Given the description of an element on the screen output the (x, y) to click on. 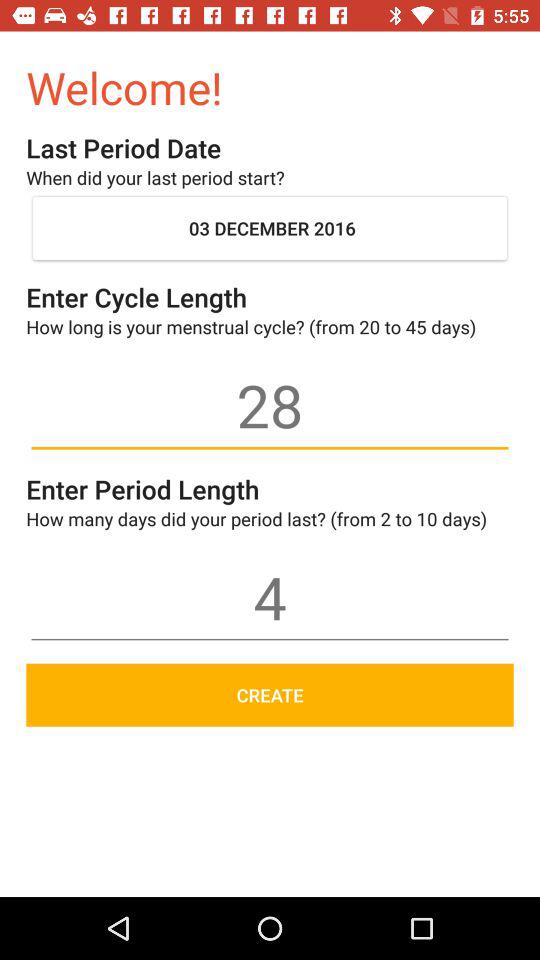
flip until the 4 item (269, 597)
